Given the description of an element on the screen output the (x, y) to click on. 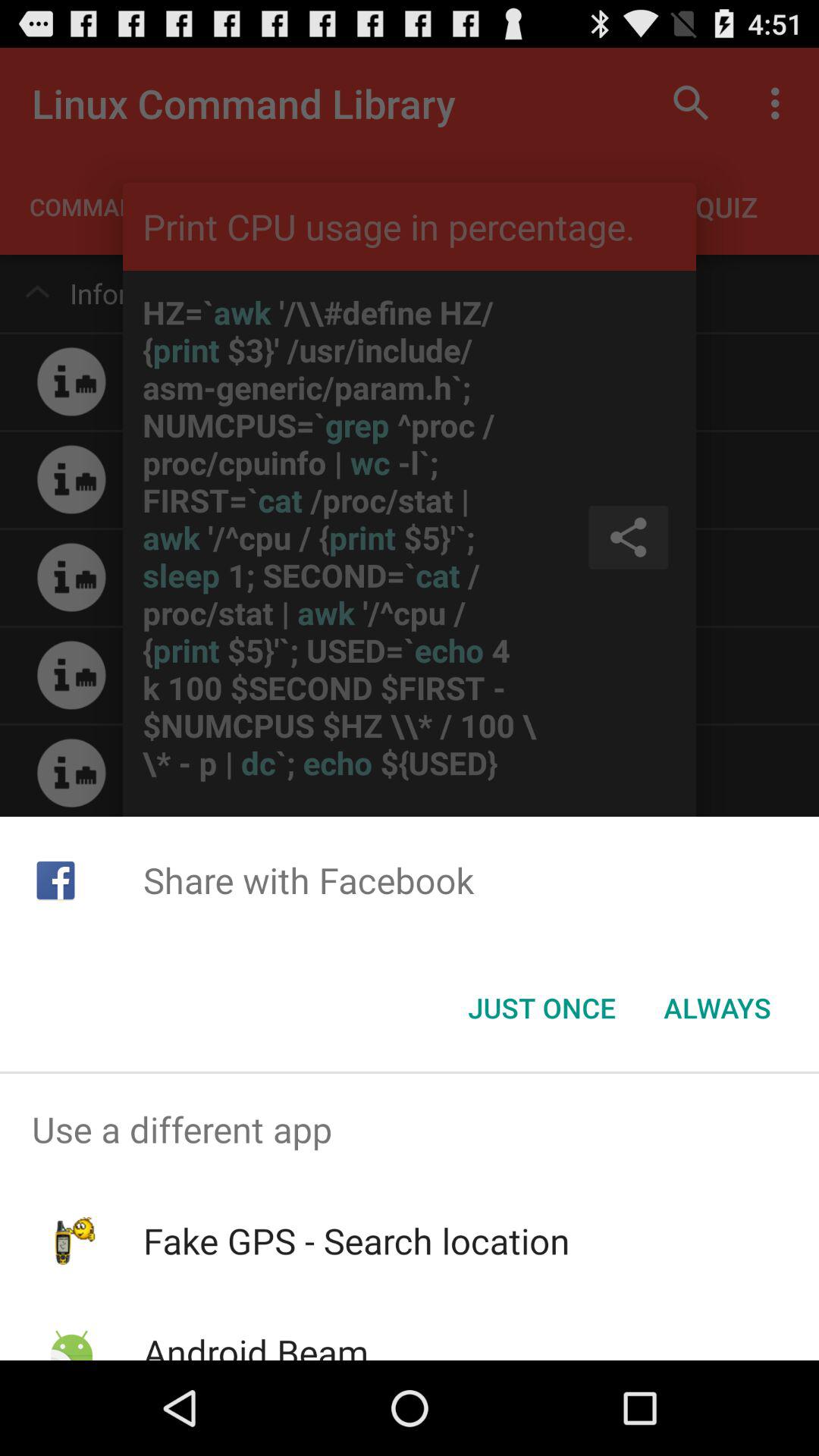
swipe until always (717, 1007)
